Given the description of an element on the screen output the (x, y) to click on. 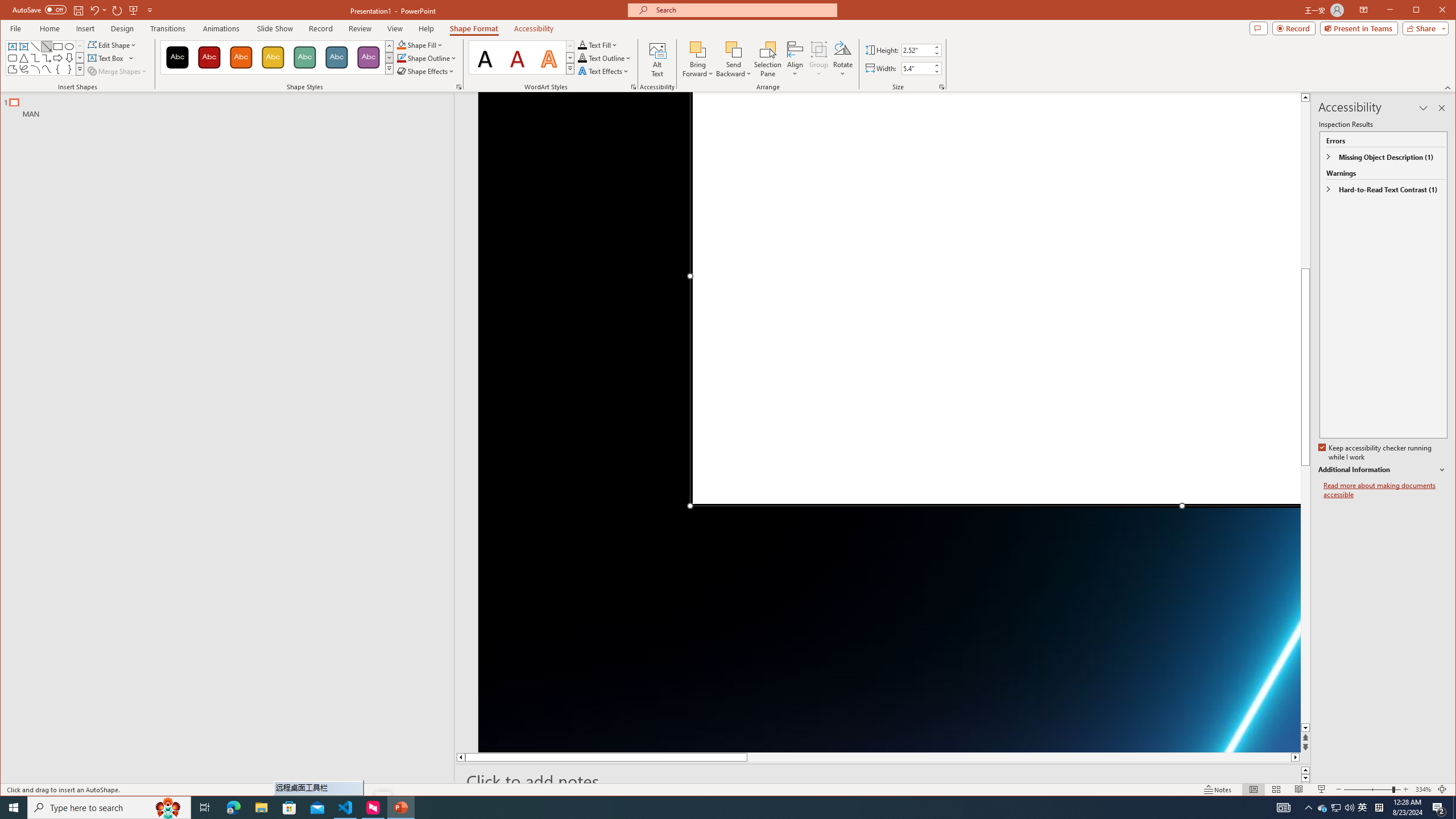
Q2790: 100% (1349, 807)
Connector: Elbow Arrow (46, 57)
Text Box (12, 46)
Show desktop (1454, 807)
Colored Fill - Blue-Gray, Accent 5 (336, 57)
Merge Shapes (118, 70)
Slide Notes (882, 780)
Microsoft Store (289, 807)
Running applications (700, 807)
Left Brace (58, 69)
Shapes (79, 69)
